Given the description of an element on the screen output the (x, y) to click on. 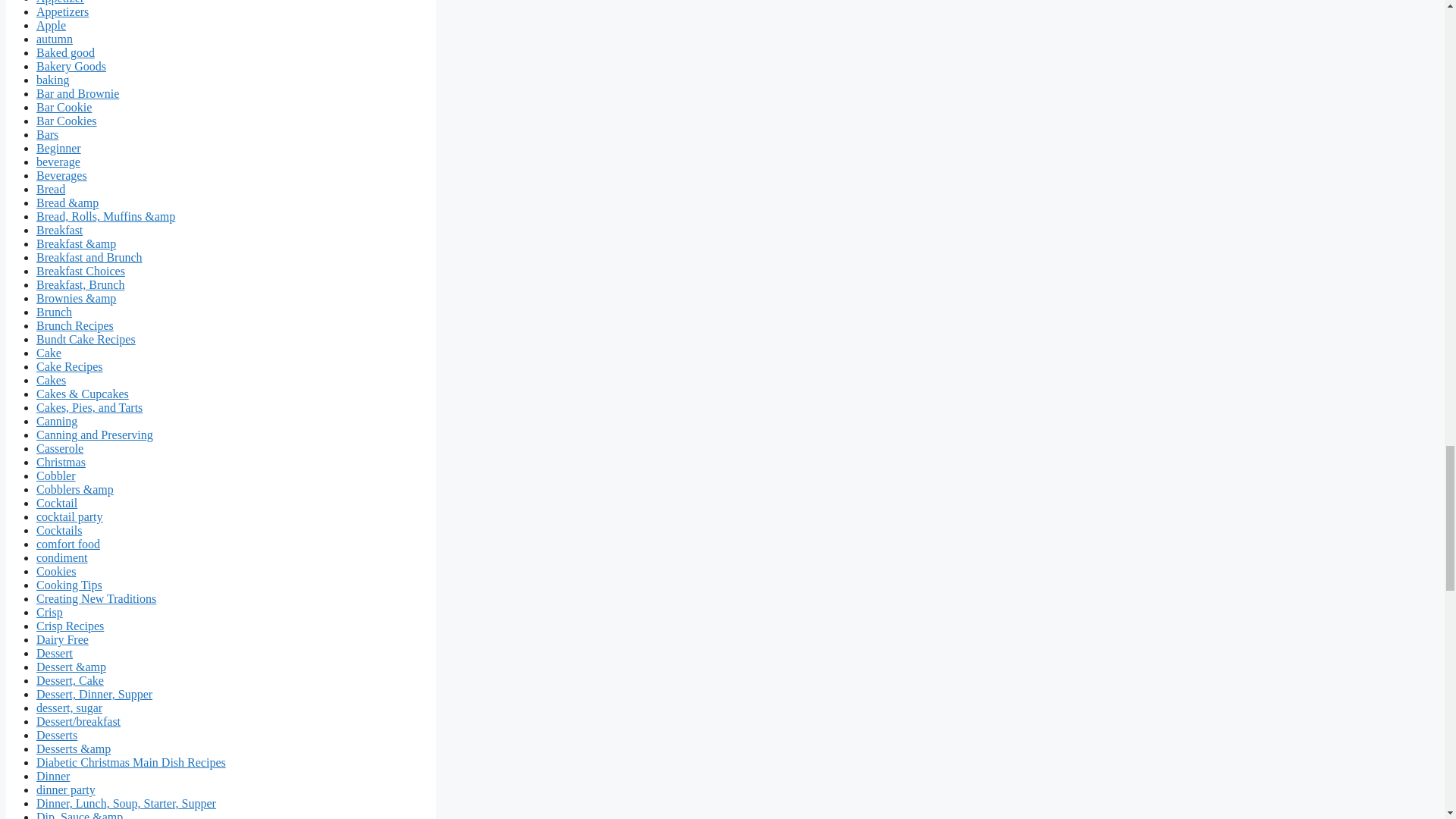
Appetizers (62, 11)
Baked good (65, 51)
autumn (54, 38)
Appetizer (60, 2)
Apple (50, 24)
Bakery Goods (71, 65)
